Given the description of an element on the screen output the (x, y) to click on. 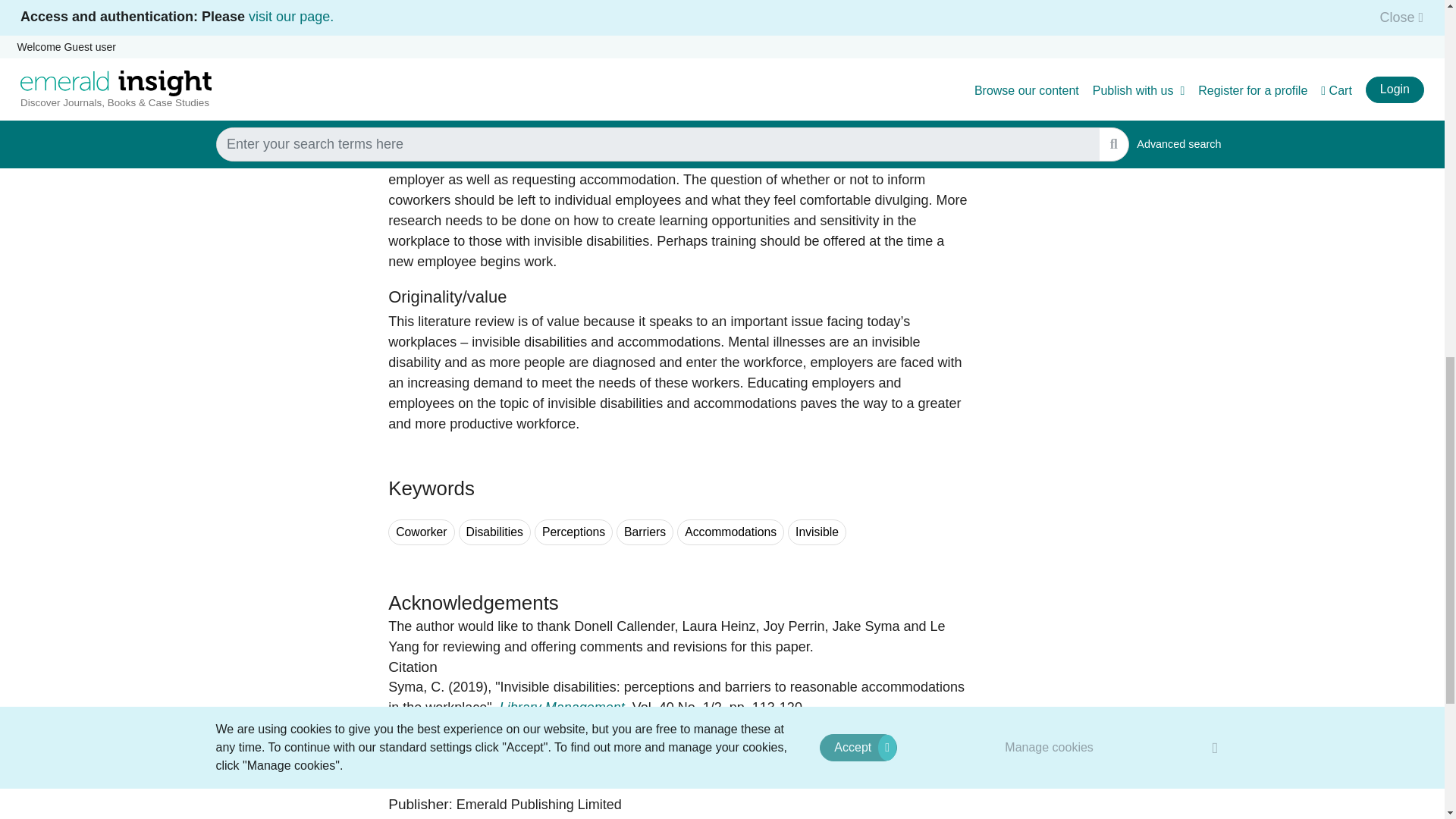
Search for keyword Coworker (421, 532)
Search for keyword Barriers (643, 532)
Carrye Syma (416, 686)
Search for keyword Perceptions (573, 532)
Search for keyword Invisible (816, 532)
Search for keyword Disabilities (494, 532)
Search for keyword Accommodations (730, 532)
